Given the description of an element on the screen output the (x, y) to click on. 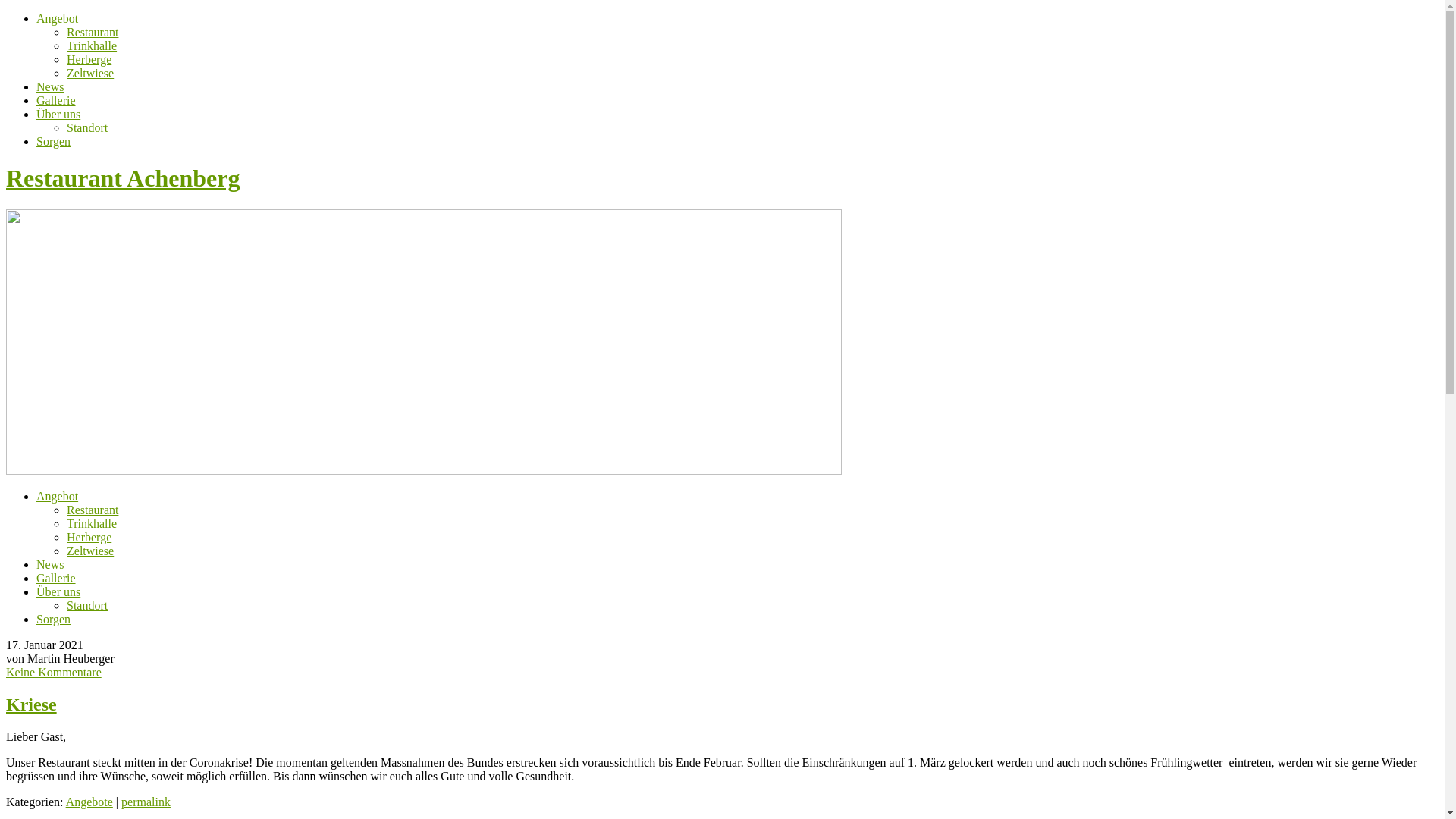
Herberge Element type: text (88, 59)
News Element type: text (49, 564)
Zeltwiese Element type: text (89, 550)
Standort Element type: text (86, 605)
Angebote Element type: text (88, 801)
Trinkhalle Element type: text (91, 45)
Trinkhalle Element type: text (91, 523)
Restaurant Element type: text (92, 509)
Sorgen Element type: text (53, 618)
Standort Element type: text (86, 127)
Zeltwiese Element type: text (89, 72)
Gallerie Element type: text (55, 100)
Angebot Element type: text (57, 495)
Kriese Element type: text (31, 704)
News Element type: text (49, 86)
Restaurant Element type: text (92, 31)
Herberge Element type: text (88, 536)
permalink Element type: text (145, 801)
Keine Kommentare Element type: text (53, 671)
Angebot Element type: text (57, 18)
Gallerie Element type: text (55, 577)
Sorgen Element type: text (53, 140)
Restaurant Achenberg Element type: text (122, 177)
